Given the description of an element on the screen output the (x, y) to click on. 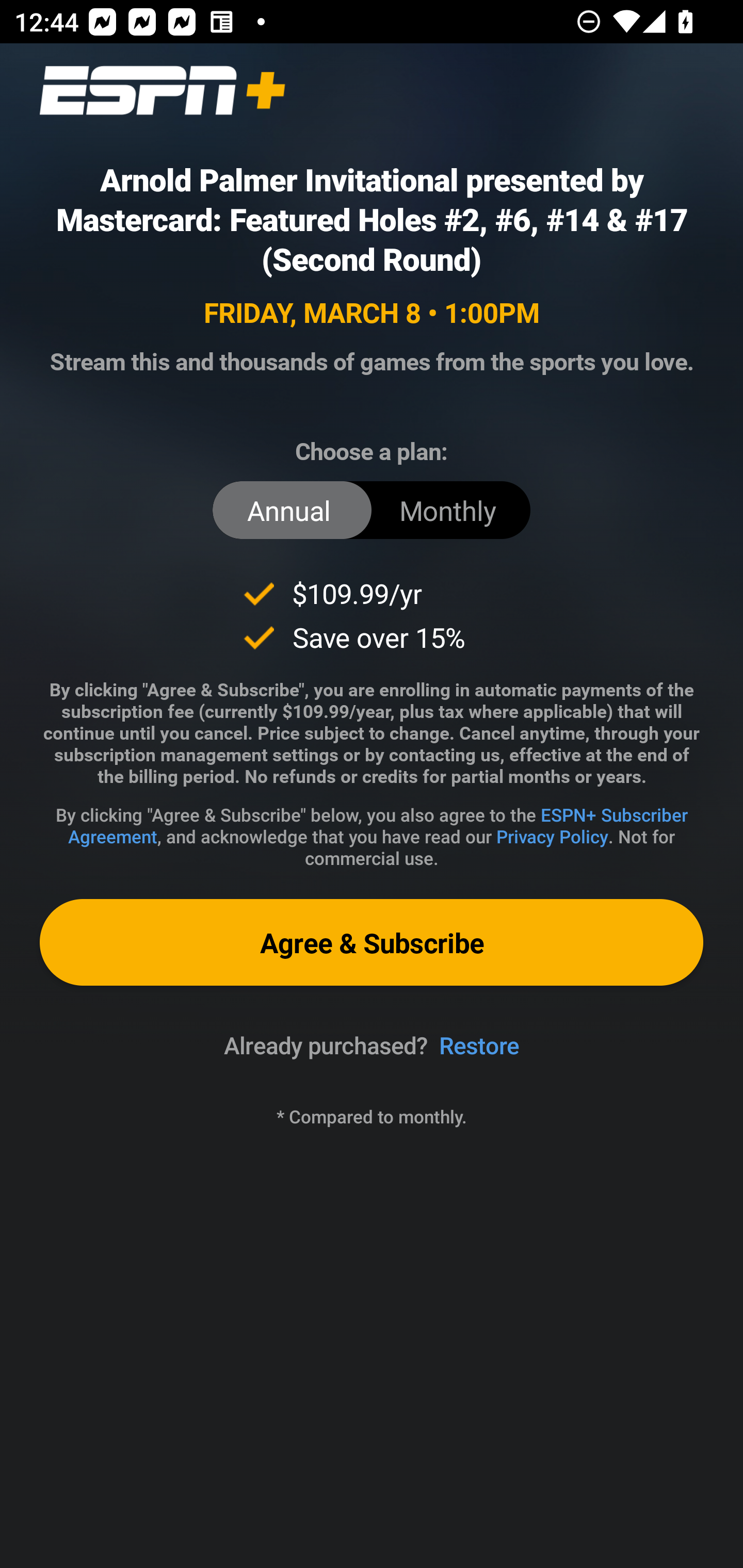
Agree & Subscribe (371, 942)
